Given the description of an element on the screen output the (x, y) to click on. 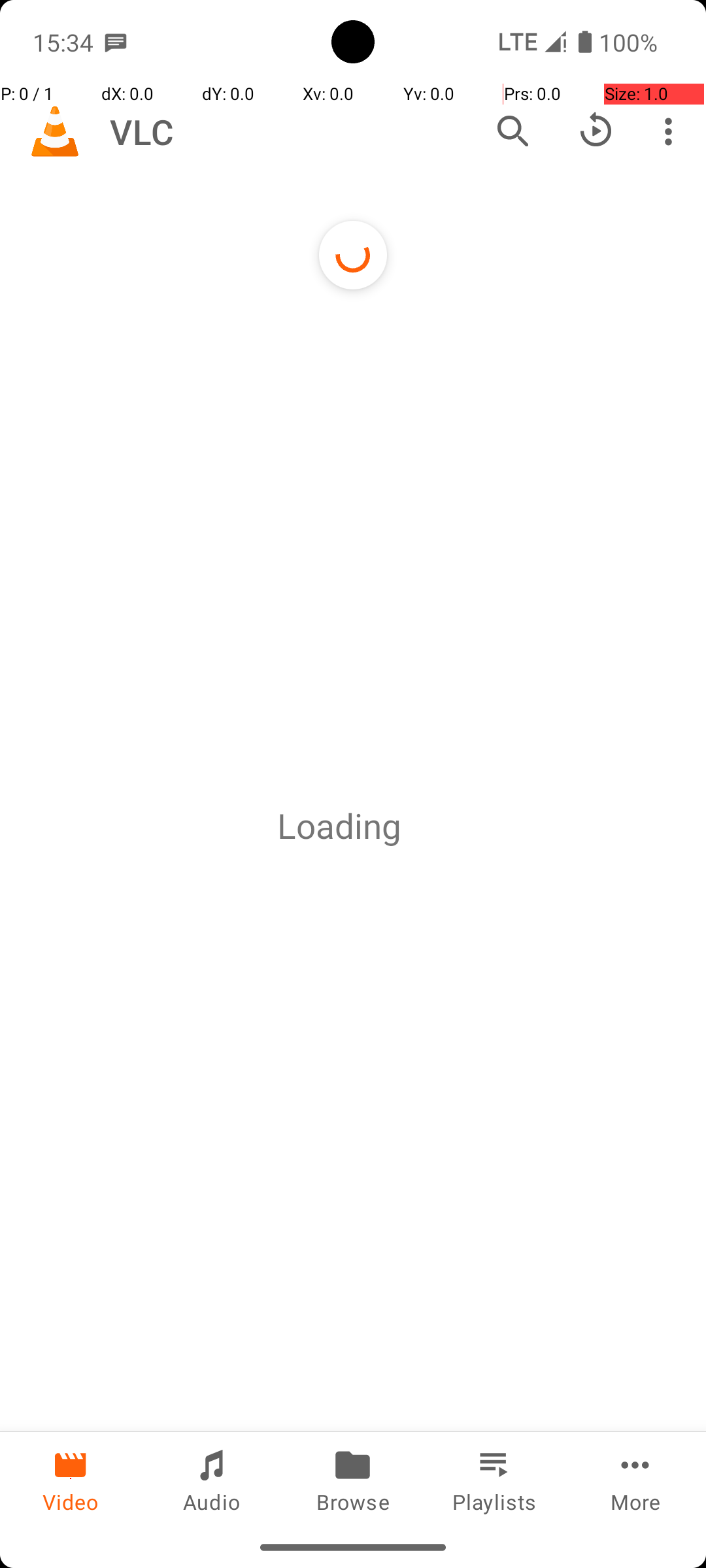
Resume playback Element type: android.widget.TextView (595, 131)
